Given the description of an element on the screen output the (x, y) to click on. 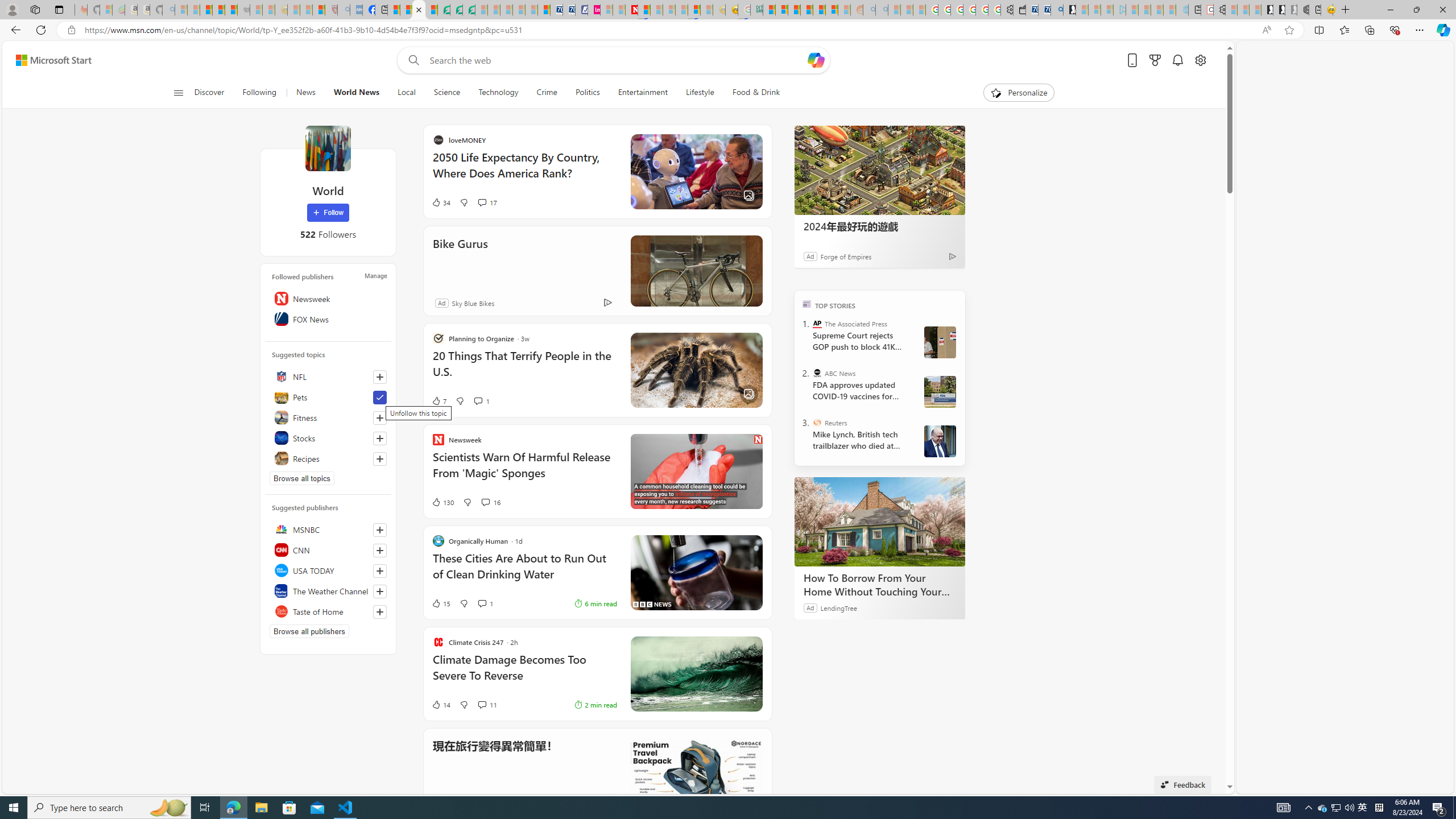
2050 Life Expectancy By Country, Where Does America Rank? (633, 171)
Expert Portfolios (806, 9)
34 Like (549, 202)
Recipes (327, 458)
The Weather Channel - MSN (205, 9)
Newsweek (327, 298)
